Given the description of an element on the screen output the (x, y) to click on. 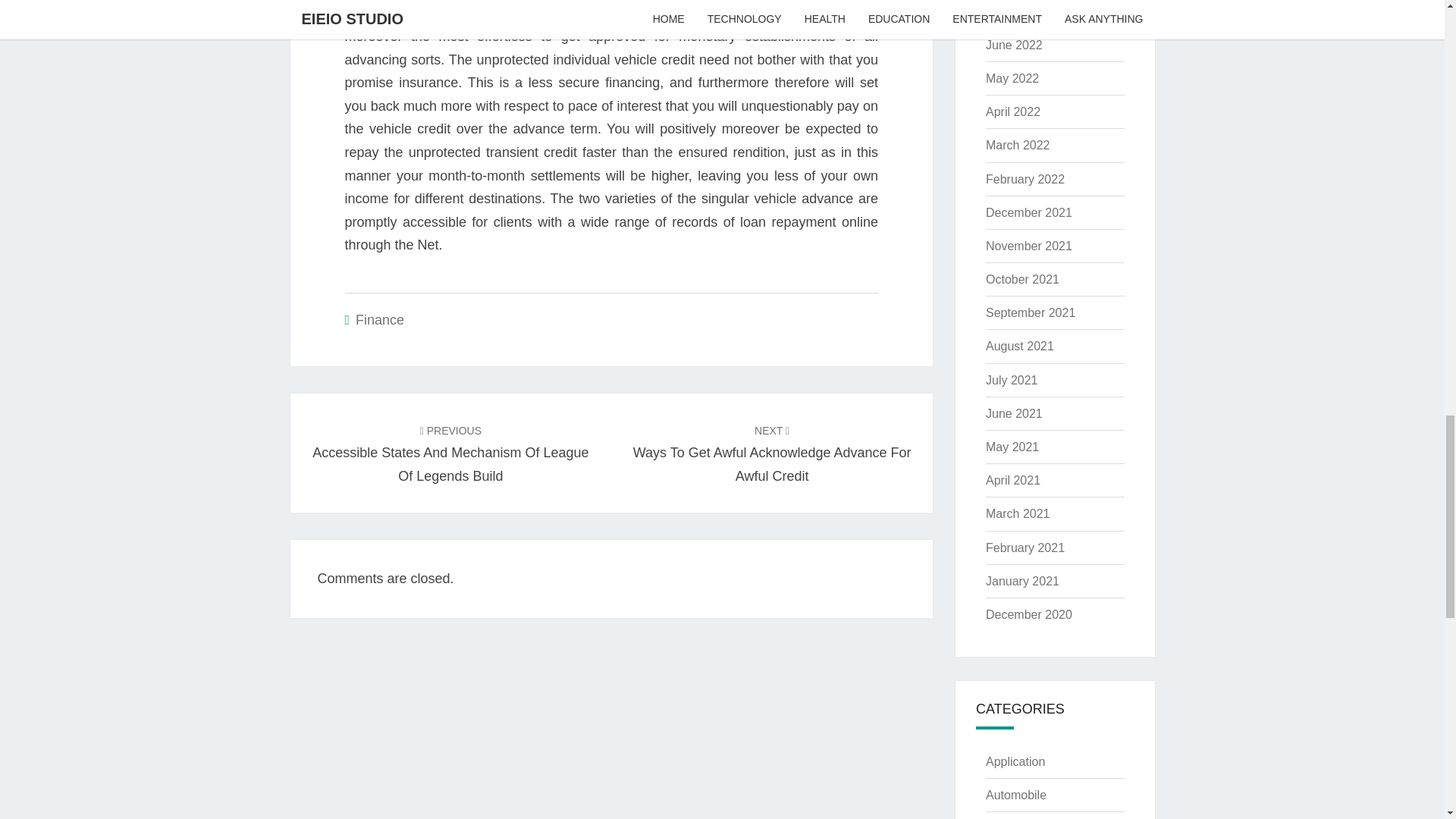
April 2022 (772, 453)
July 2022 (1013, 111)
June 2022 (1011, 11)
December 2021 (1013, 44)
May 2022 (1028, 212)
February 2022 (1012, 78)
March 2022 (1024, 178)
Finance (1017, 144)
